Given the description of an element on the screen output the (x, y) to click on. 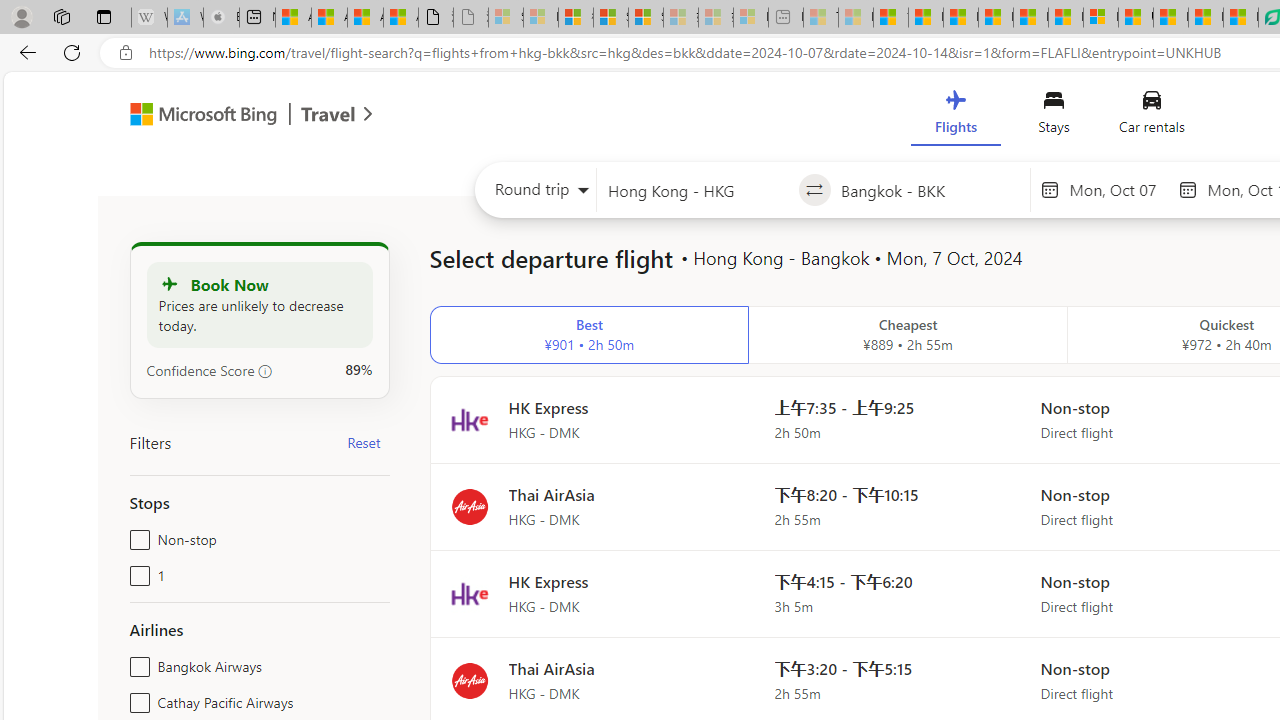
Flights (955, 116)
Drinking tea every day is proven to delay biological aging (995, 17)
Going to? (930, 190)
Class: autosuggest-container full-height no-y-padding (930, 190)
Aberdeen, Hong Kong SAR severe weather | Microsoft Weather (401, 17)
Travel (328, 116)
Flight logo (469, 680)
